Given the description of an element on the screen output the (x, y) to click on. 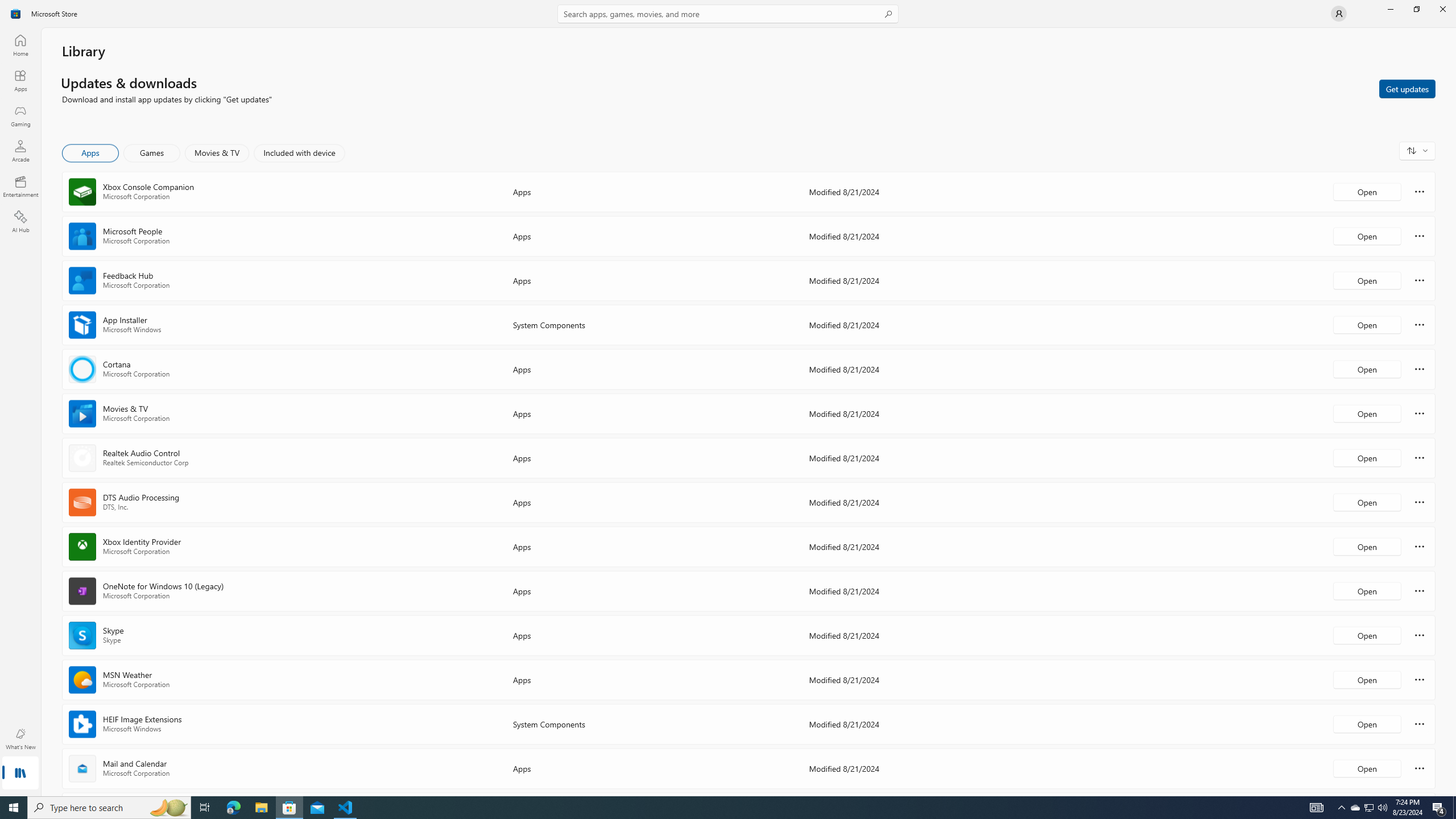
AI Hub (20, 221)
Included with device (299, 153)
User profile (1338, 13)
Open (1366, 768)
More options (1419, 768)
Arcade (20, 150)
Apps (90, 153)
Minimize Microsoft Store (1390, 9)
Close Microsoft Store (1442, 9)
Movies & TV (216, 153)
Restore Microsoft Store (1416, 9)
Home (20, 45)
AutomationID: NavigationControl (728, 398)
Get updates (1406, 88)
Sort and filter (1417, 149)
